Given the description of an element on the screen output the (x, y) to click on. 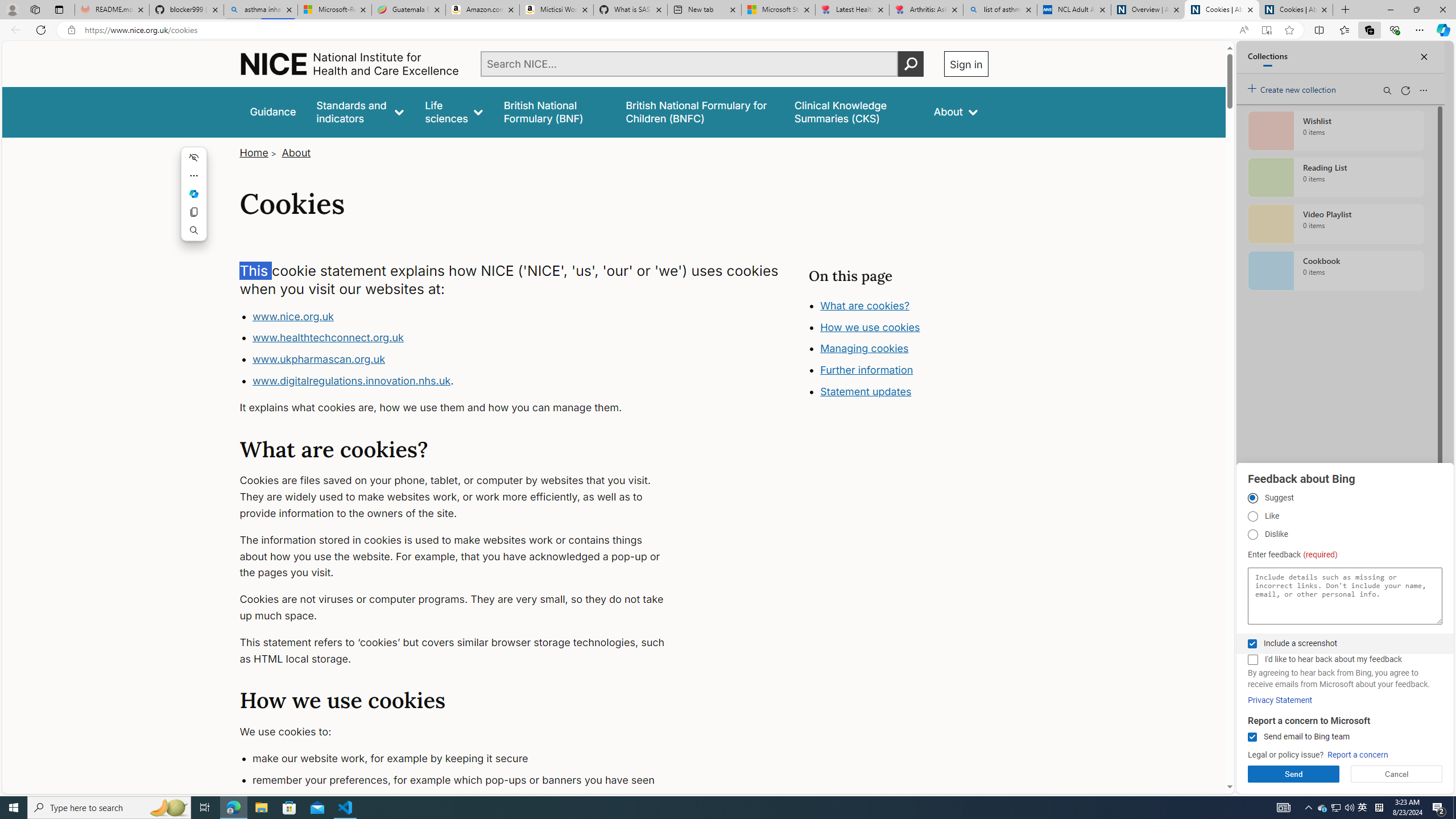
Include a screenshot (1251, 643)
Arthritis: Ask Health Professionals (925, 9)
Managing cookies (863, 348)
Cookies | About | NICE (1295, 9)
Perform search (909, 63)
Life sciences (453, 111)
Send (1293, 773)
asthma inhaler - Search (260, 9)
